Given the description of an element on the screen output the (x, y) to click on. 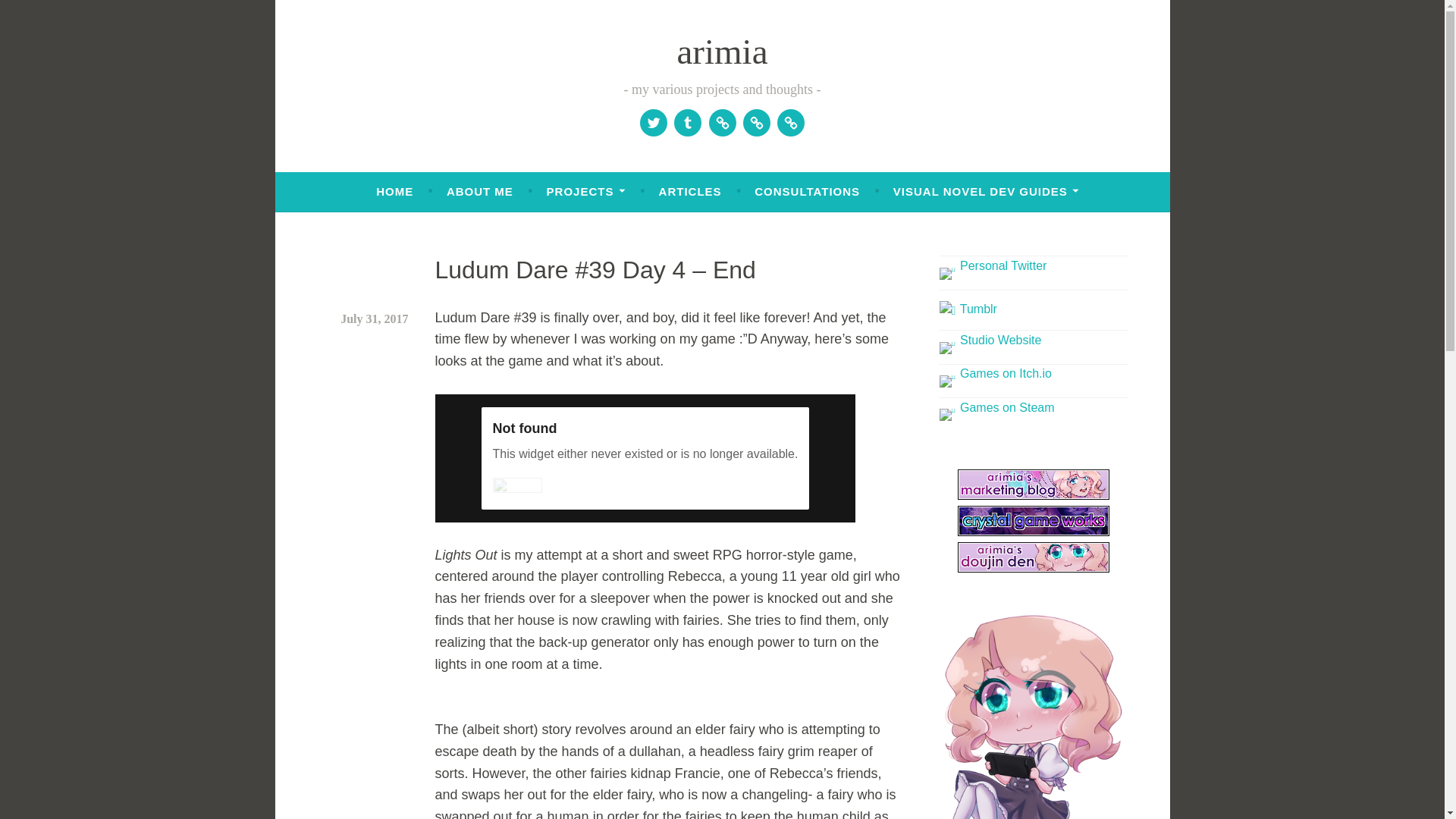
CONSULTATIONS (807, 191)
Personal Twitter (653, 122)
Tumblr (687, 122)
Tumblr (968, 308)
Games on Itch.io (756, 122)
ARTICLES (690, 191)
July 31, 2017 (373, 318)
Studio Website (721, 122)
Games on Steam (790, 122)
Personal Twitter (992, 265)
VISUAL NOVEL DEV GUIDES (985, 191)
ABOUT ME (479, 191)
PROJECTS (586, 191)
arimia (722, 51)
HOME (394, 191)
